Given the description of an element on the screen output the (x, y) to click on. 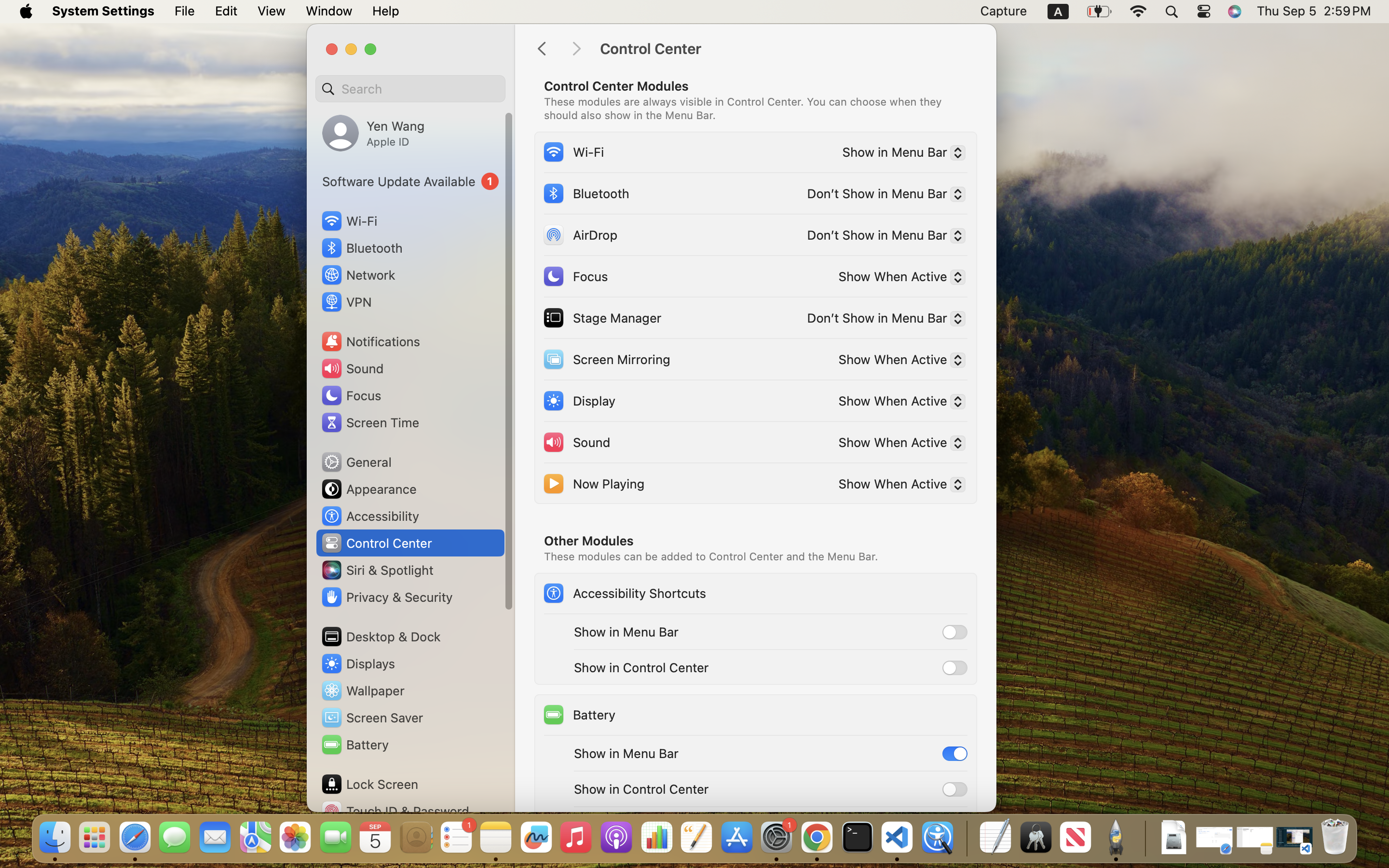
Battery Element type: AXStaticText (578, 714)
General Element type: AXStaticText (355, 461)
Focus Element type: AXStaticText (574, 275)
Privacy & Security Element type: AXStaticText (386, 596)
